Given the description of an element on the screen output the (x, y) to click on. 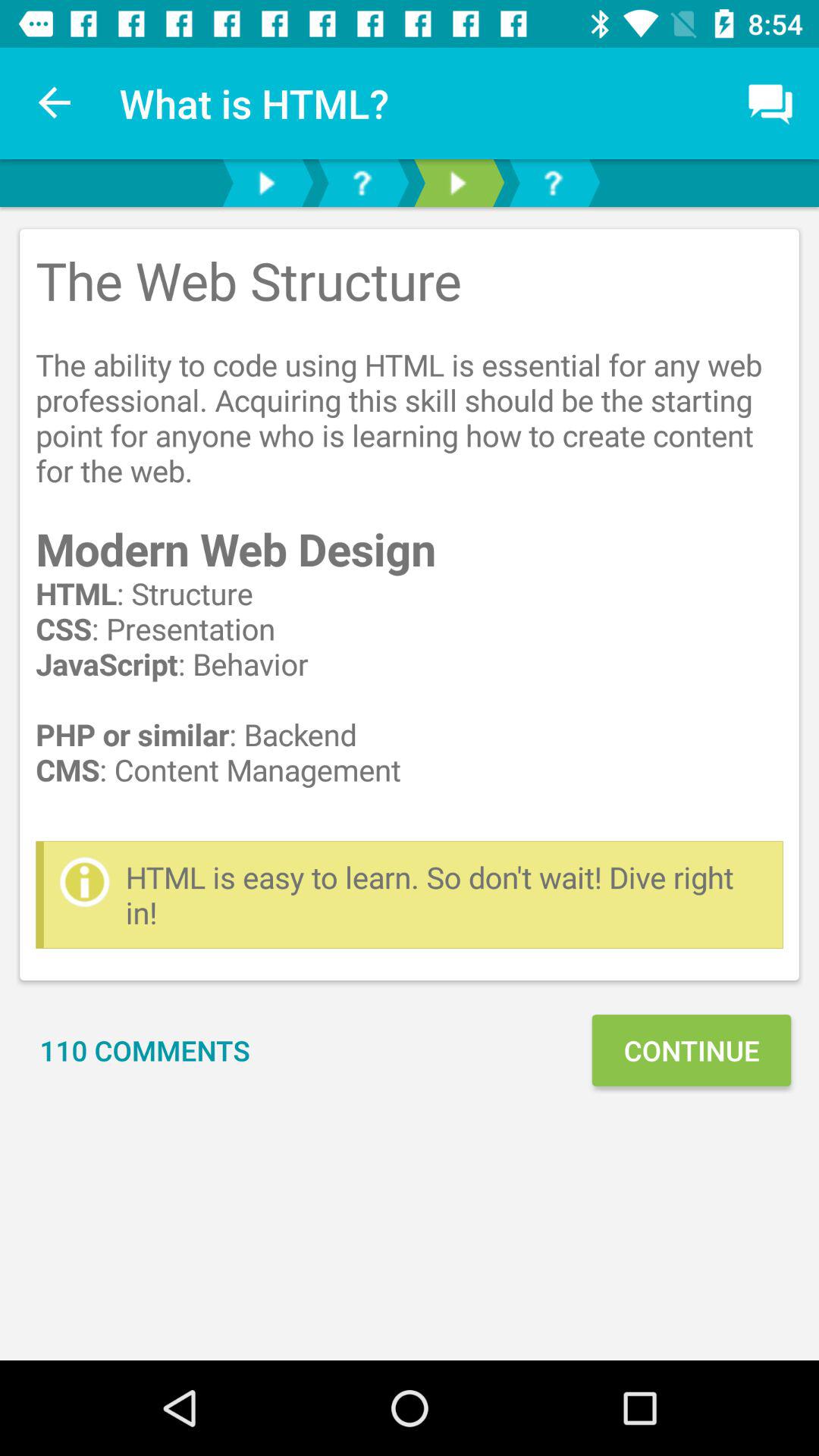
flip to the web structure item (409, 535)
